Given the description of an element on the screen output the (x, y) to click on. 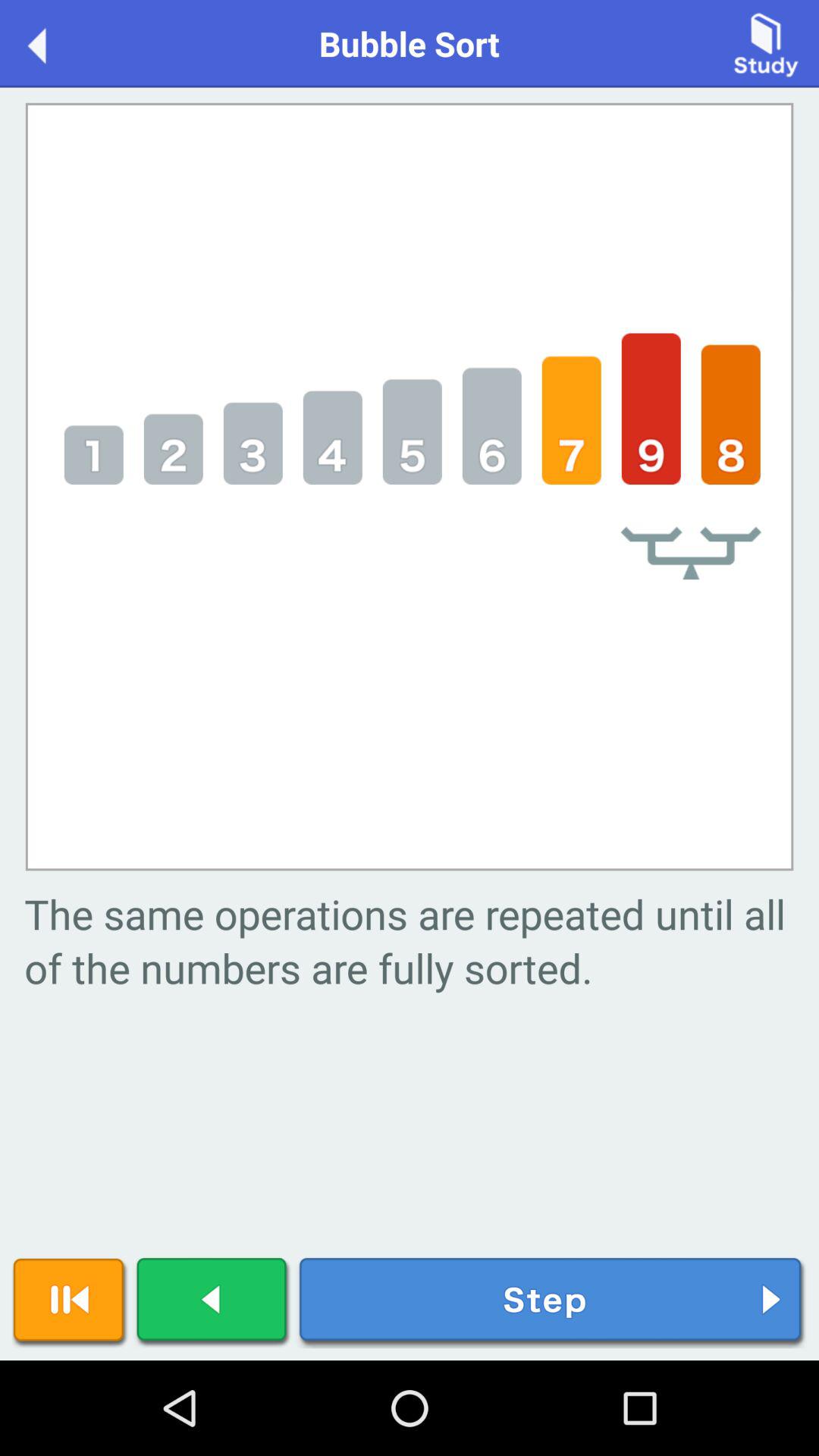
back to previous menu (52, 42)
